Given the description of an element on the screen output the (x, y) to click on. 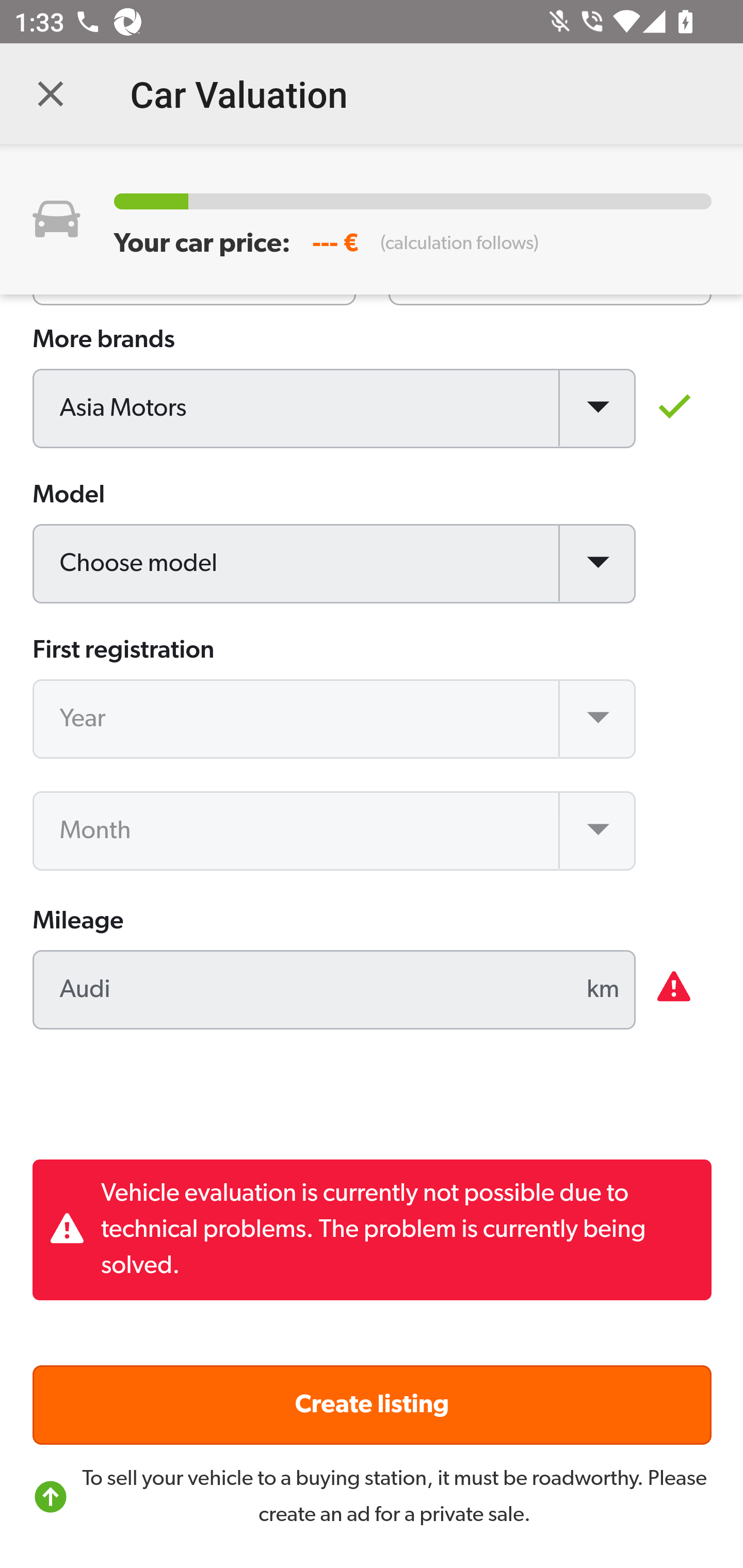
Navigate up (50, 93)
Asia Motors (334, 409)
Choose model (334, 564)
Year (334, 720)
Month (334, 831)
Audi (334, 991)
Create listing (372, 1405)
